Given the description of an element on the screen output the (x, y) to click on. 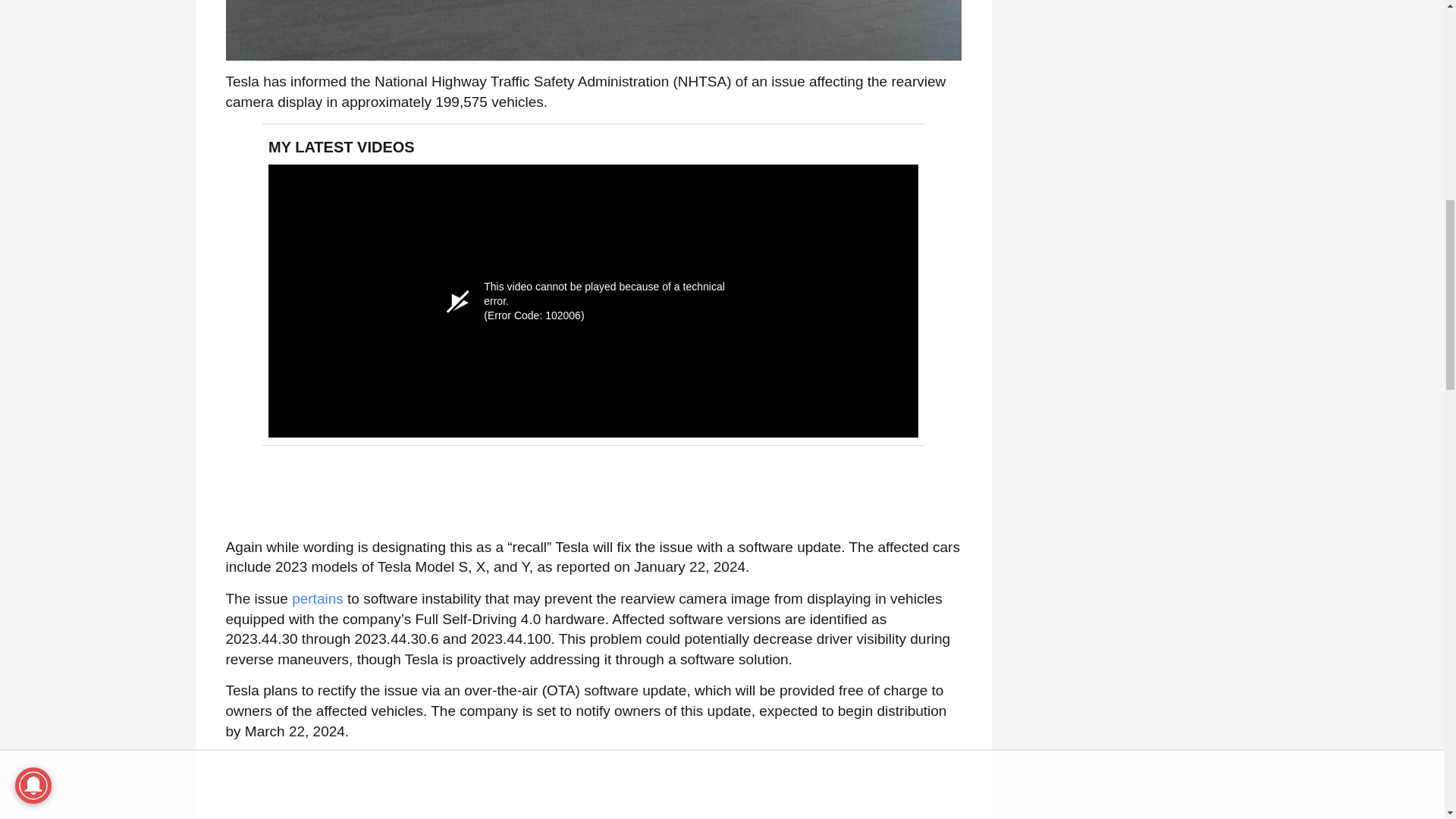
TeslaNorthcom (592, 30)
